Given the description of an element on the screen output the (x, y) to click on. 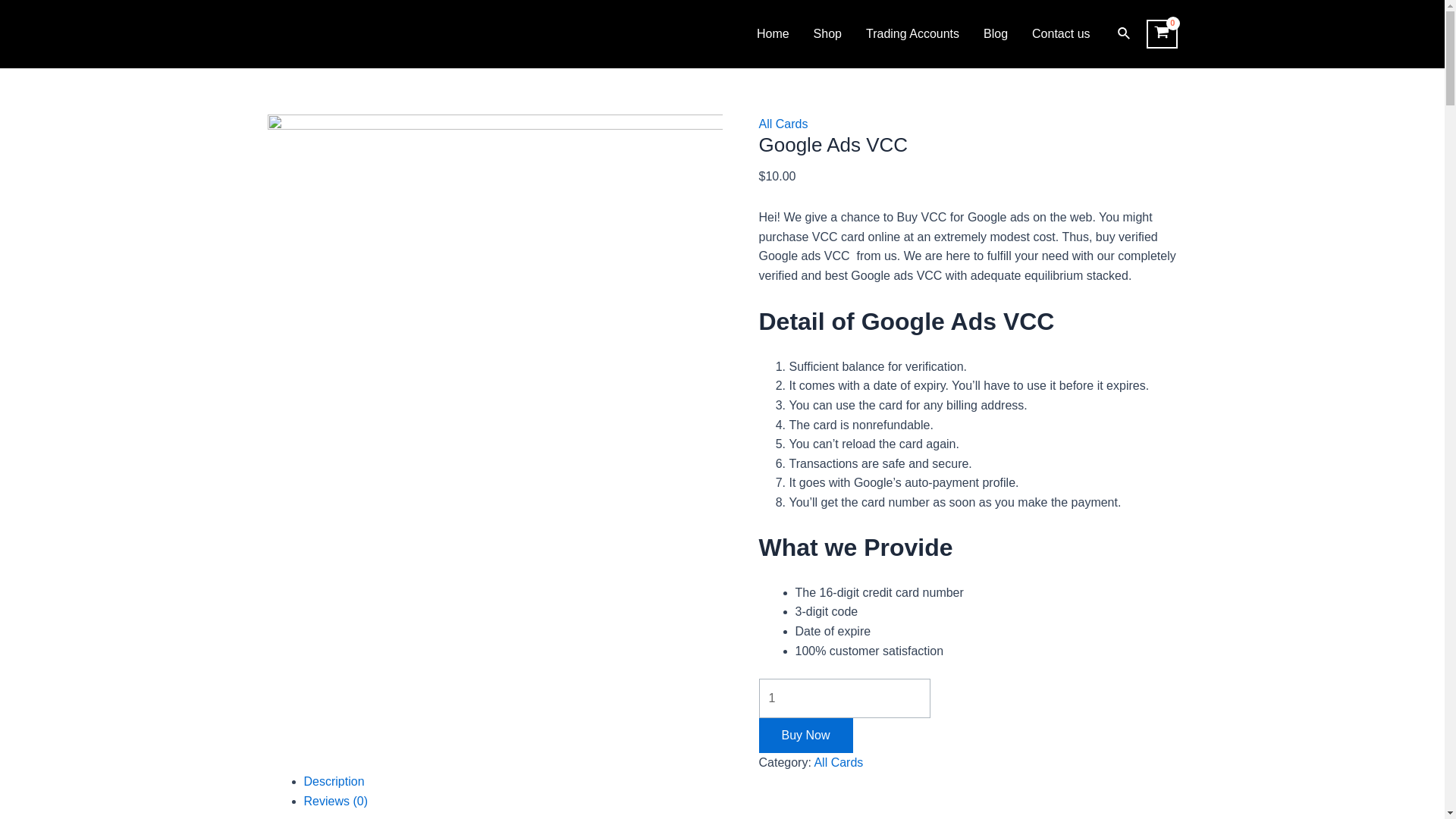
Trading Accounts (912, 34)
Search (1124, 34)
Home (773, 34)
Blog (995, 34)
Contact us (1061, 34)
Shop (827, 34)
1 (844, 698)
